Given the description of an element on the screen output the (x, y) to click on. 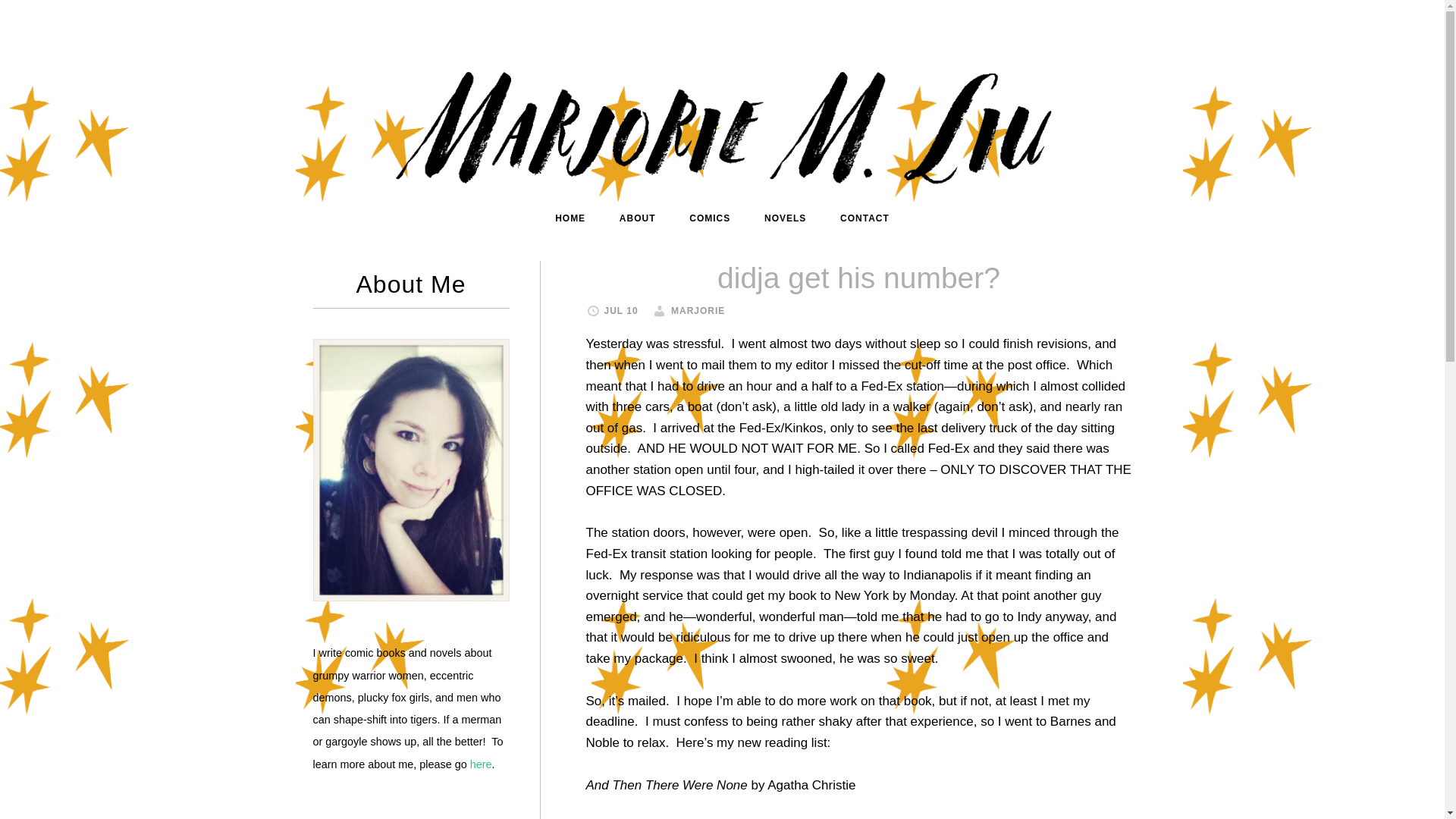
NOVELS (785, 218)
COMICS (709, 218)
ABOUT (637, 218)
MARJORIE (698, 310)
HOME (569, 218)
CONTACT (864, 218)
MARJORIE LIU (721, 122)
here (481, 764)
